Given the description of an element on the screen output the (x, y) to click on. 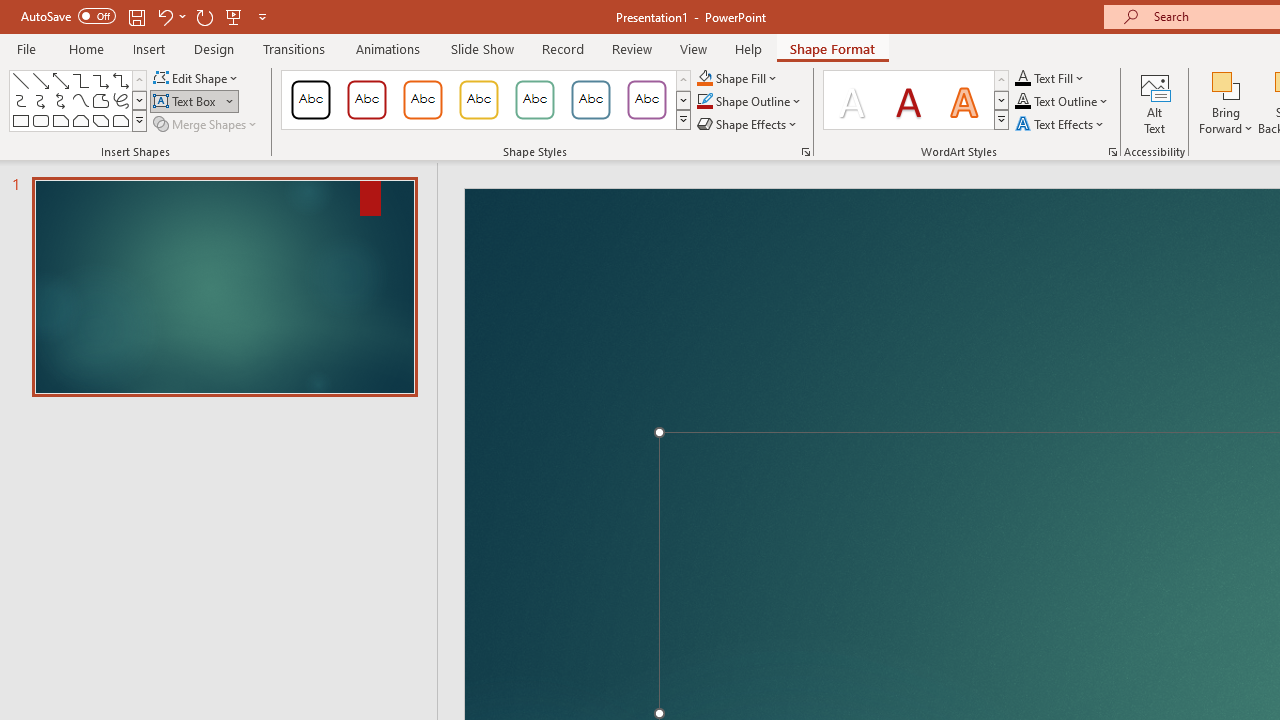
Rectangle: Diagonal Corners Snipped (100, 120)
